Given the description of an element on the screen output the (x, y) to click on. 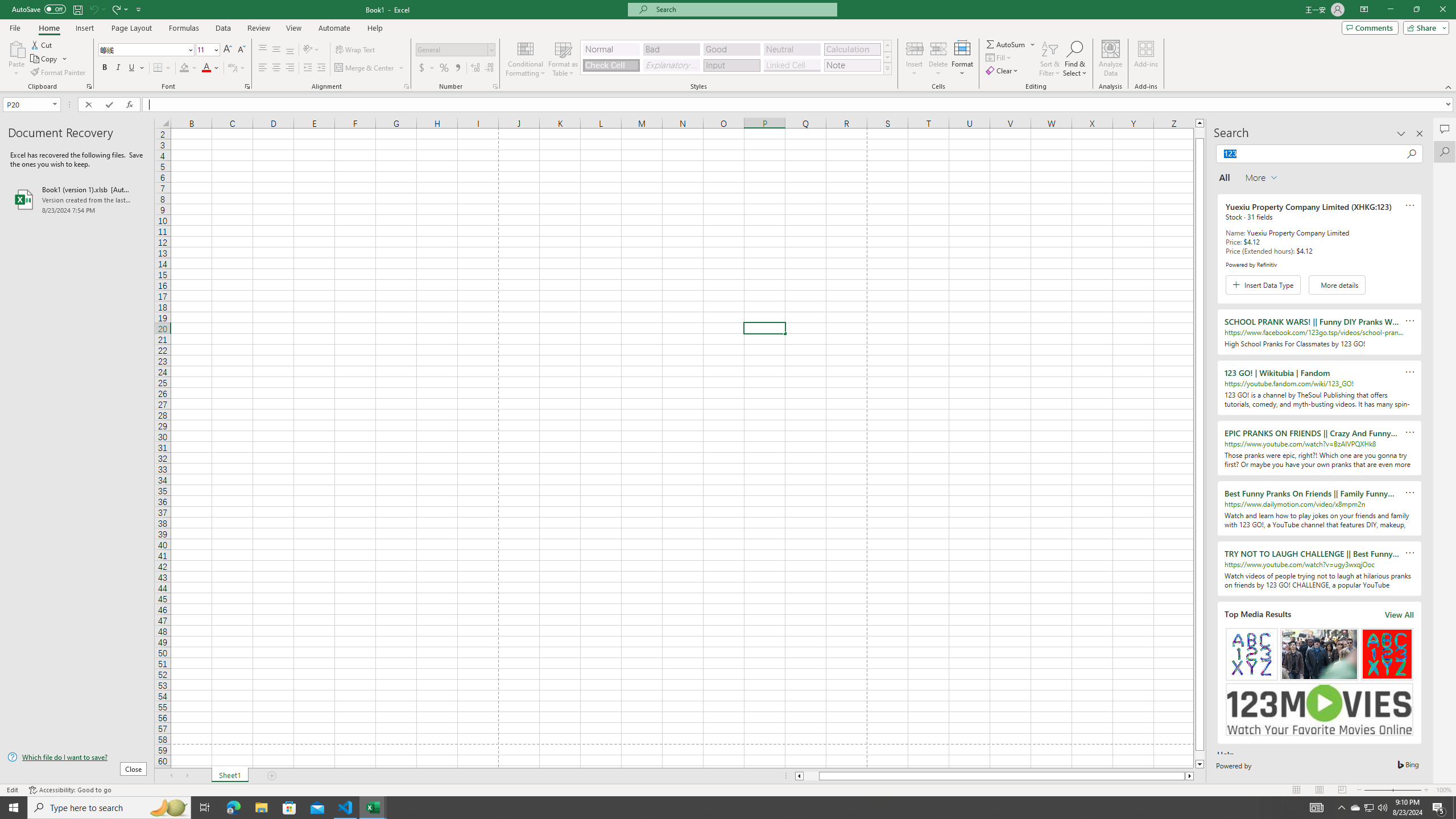
Center (276, 67)
Show Phonetic Field (231, 67)
Explanatory Text (671, 65)
Number Format (451, 49)
Calculation (852, 49)
Accounting Number Format (422, 67)
Input (731, 65)
Office Clipboard... (88, 85)
Wrap Text (355, 49)
Increase Decimal (474, 67)
Orientation (311, 49)
